Given the description of an element on the screen output the (x, y) to click on. 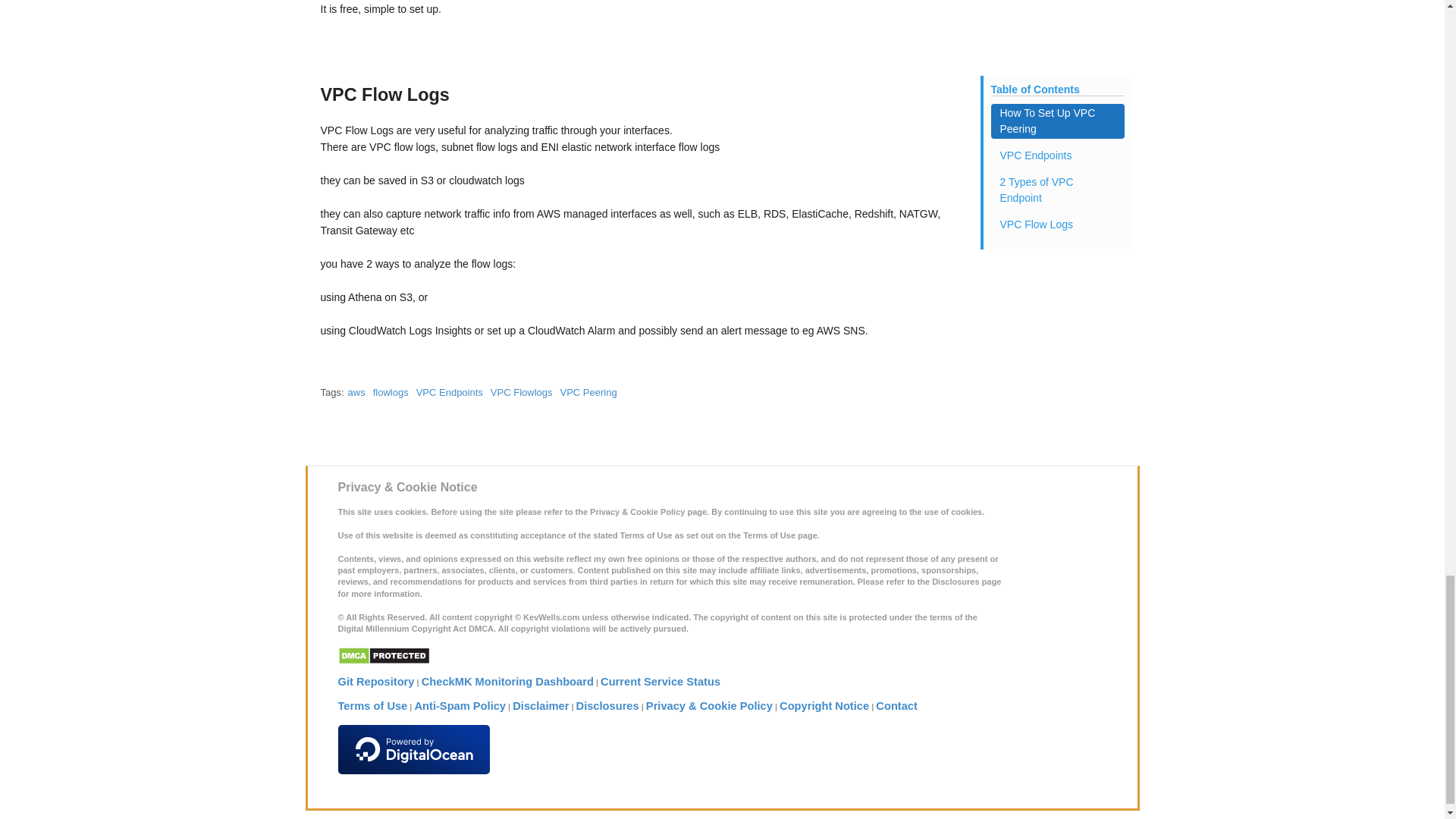
VPC Endpoints (449, 392)
Contact (896, 705)
CheckMK Monitoring Dashboard (508, 681)
Copyright Notice (823, 705)
aws (356, 392)
Git Repository (375, 681)
flowlogs (390, 392)
DMCA.com Protection Status (383, 657)
Current Service Status (659, 681)
VPC Flowlogs (521, 392)
